Given the description of an element on the screen output the (x, y) to click on. 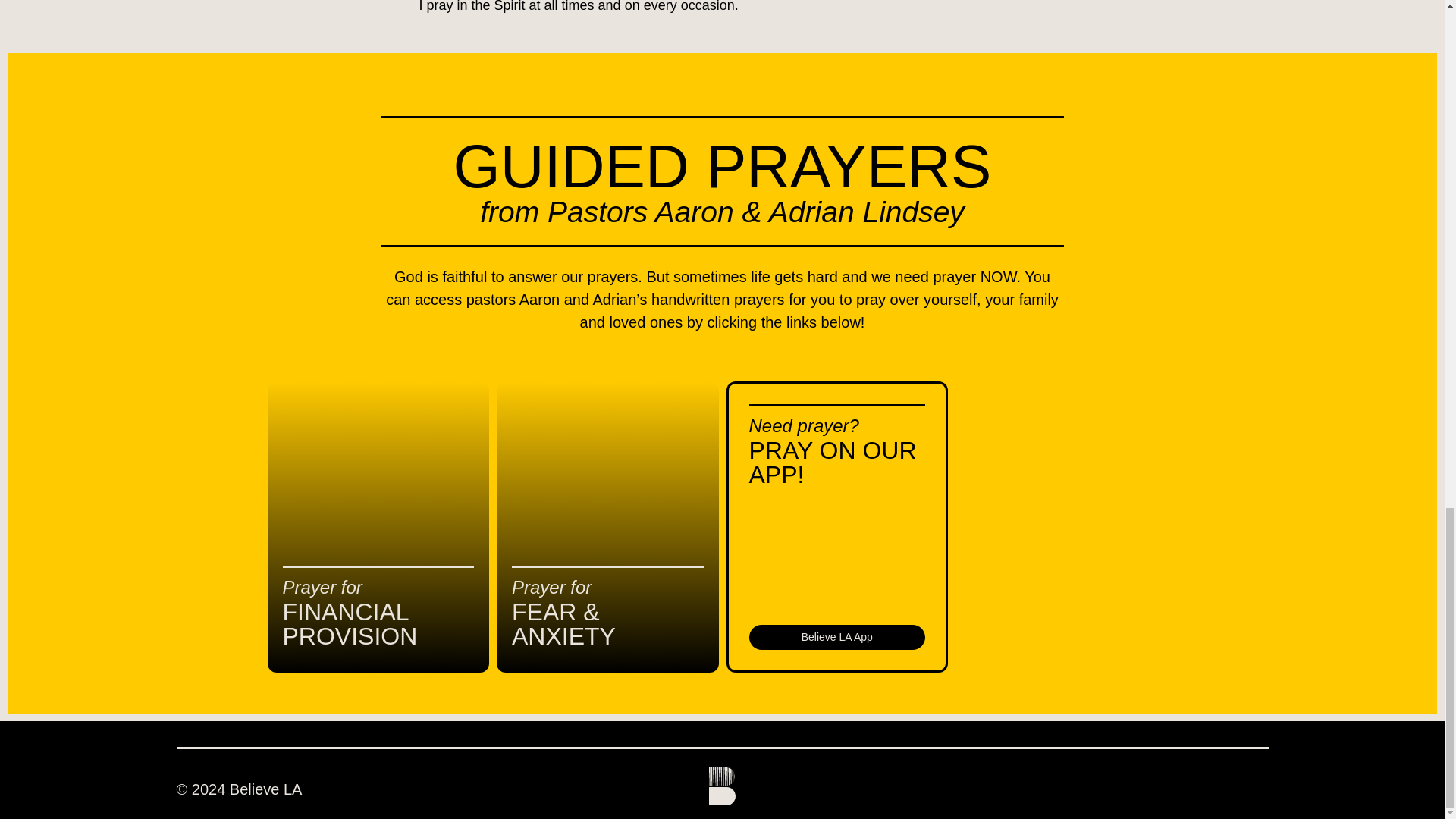
Believe LA App (837, 637)
FINANCIAL PROVISION (349, 624)
Prayer for (551, 587)
Prayer for (321, 587)
